Given the description of an element on the screen output the (x, y) to click on. 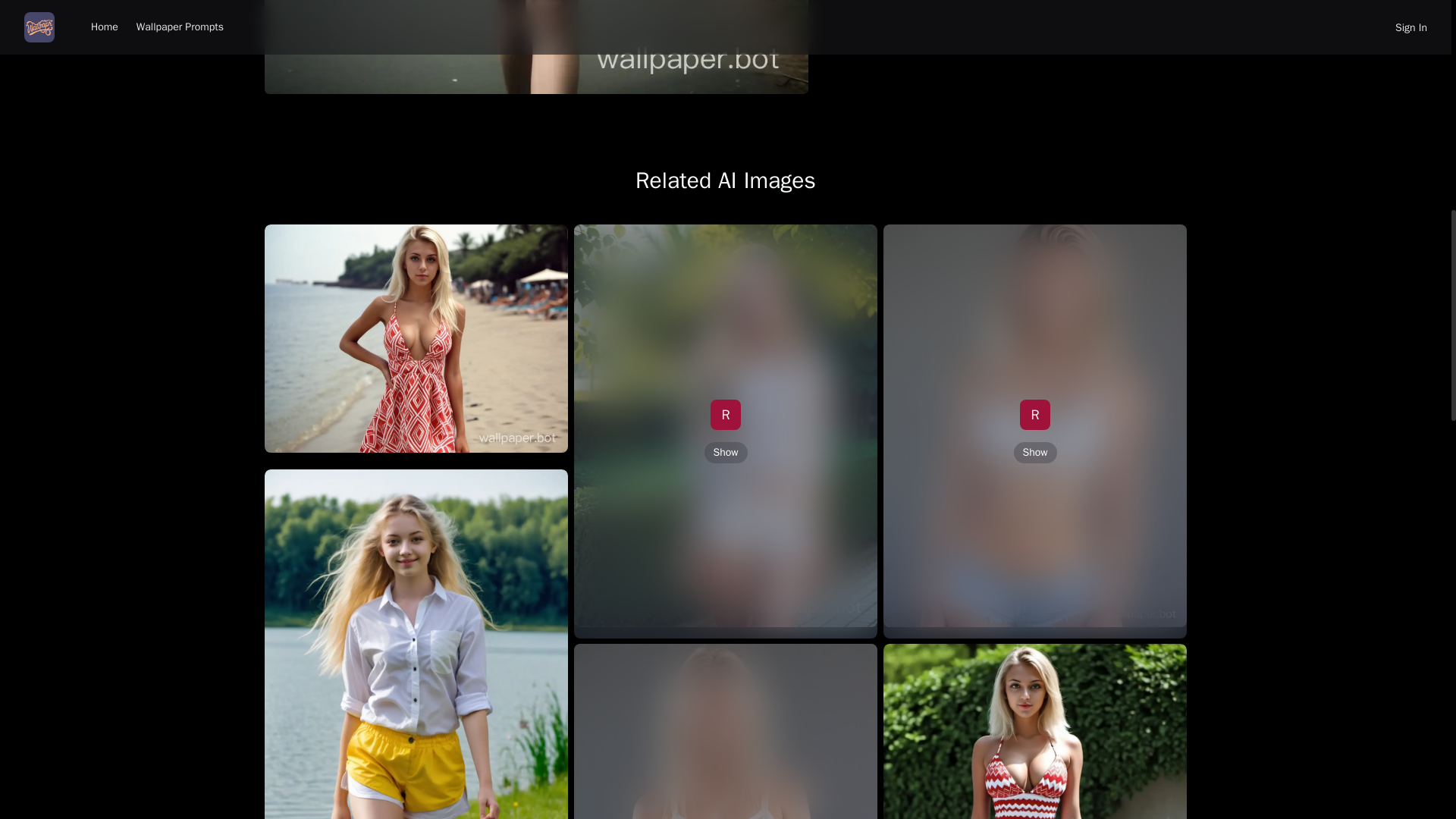
Show (724, 452)
Show (1035, 452)
